Given the description of an element on the screen output the (x, y) to click on. 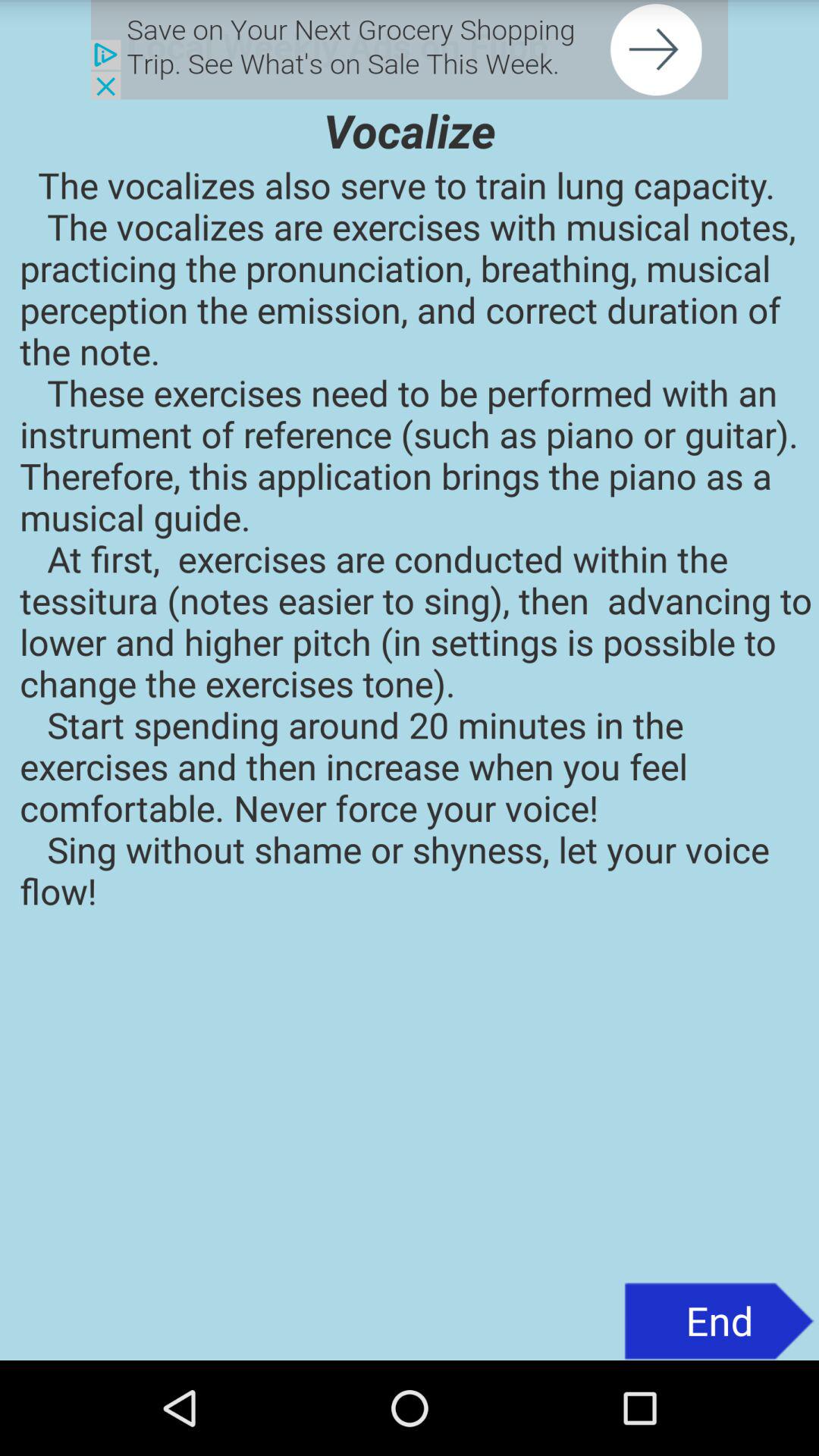
click the advertisement for grocery shopping (409, 49)
